Given the description of an element on the screen output the (x, y) to click on. 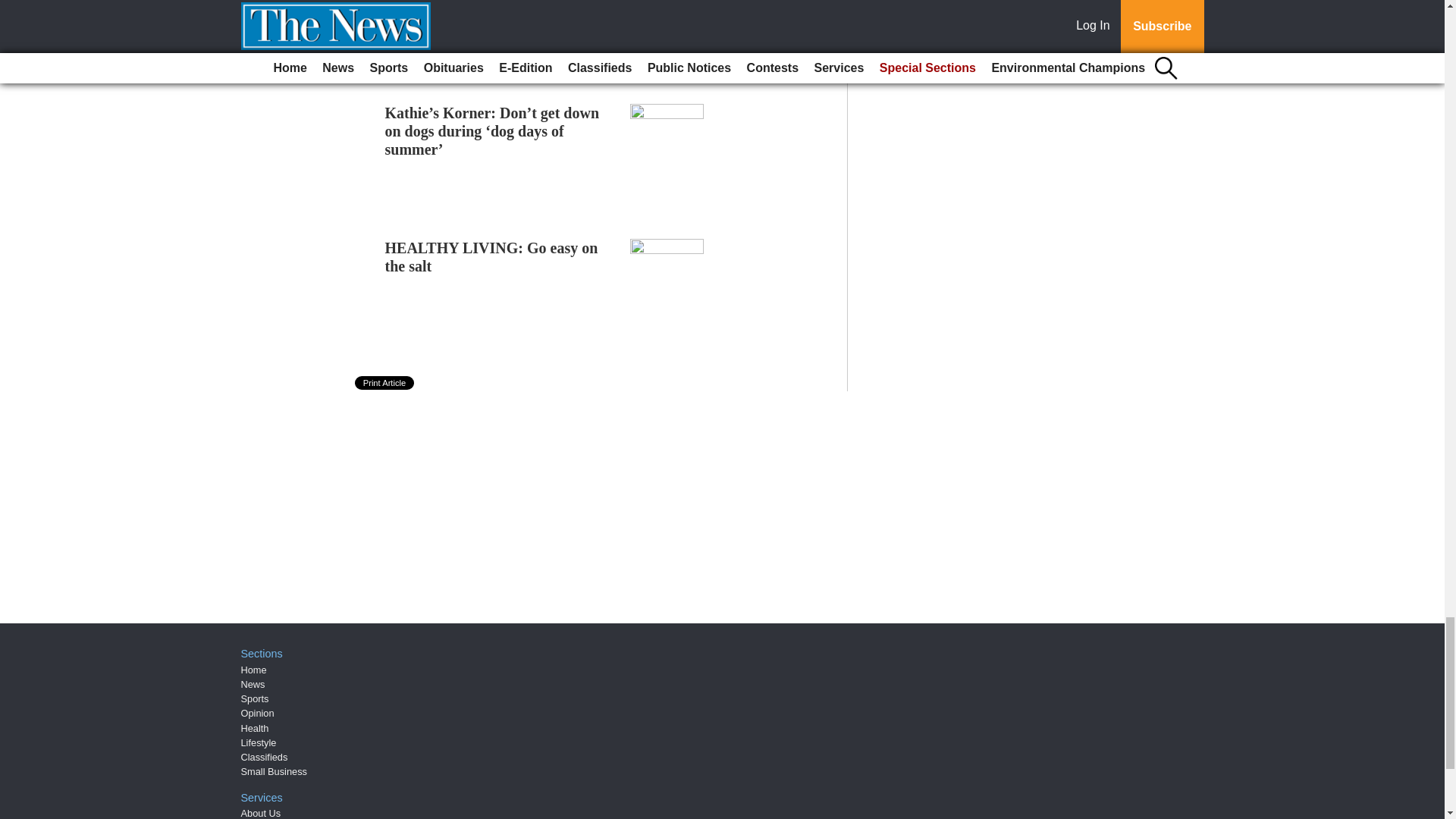
Print Article (384, 382)
HEALTHY LIVING: Go easy on the salt (491, 256)
HEALTHY LIVING: Go easy on the salt (491, 256)
